Given the description of an element on the screen output the (x, y) to click on. 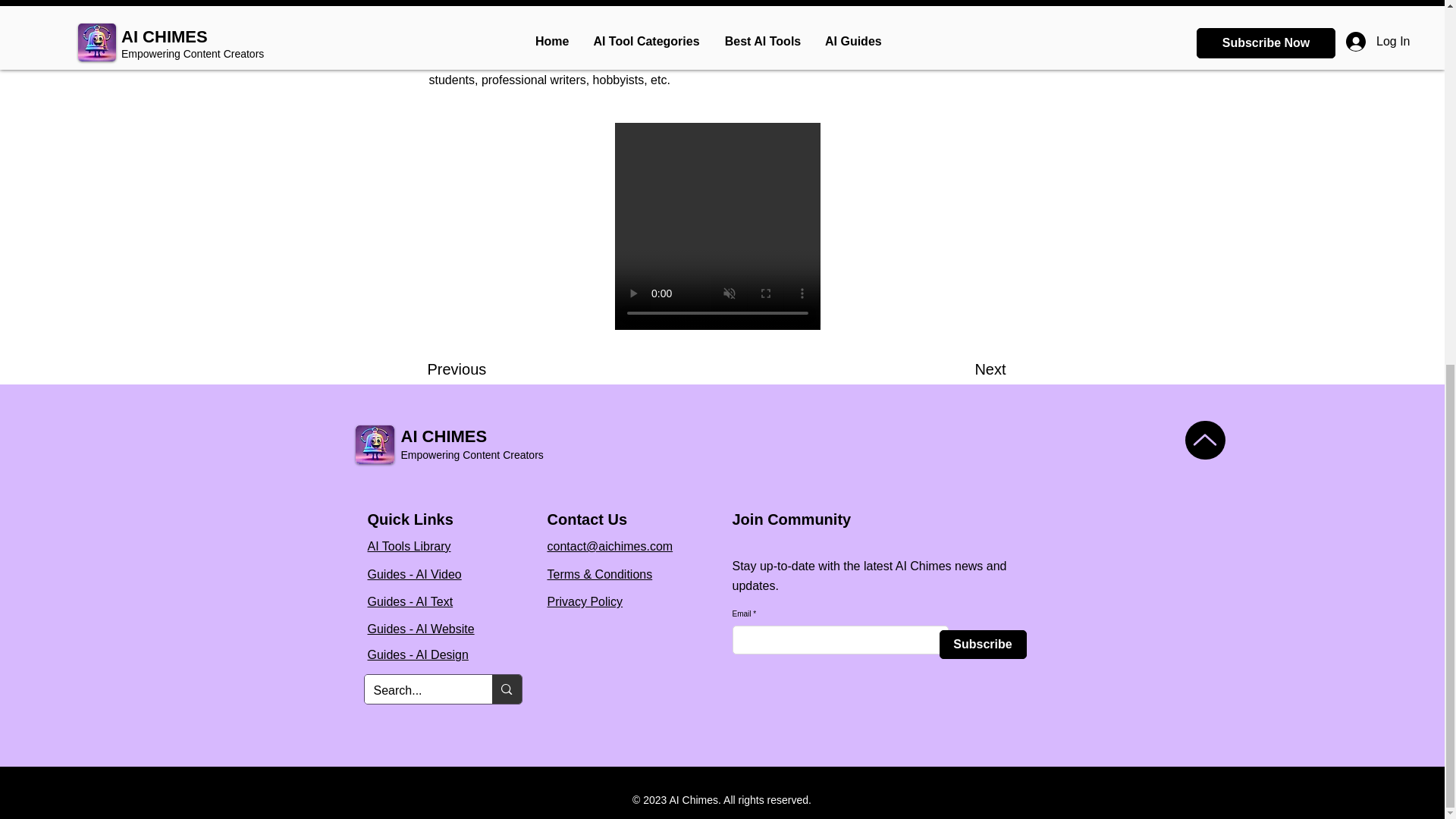
Guides - AI Website (420, 628)
Guides - AI Video (413, 574)
AI Tools Library (407, 545)
Guides - AI Design (416, 654)
AI CHIMES (443, 435)
Previous (476, 368)
Next (968, 368)
Guides - AI Text (409, 601)
